Given the description of an element on the screen output the (x, y) to click on. 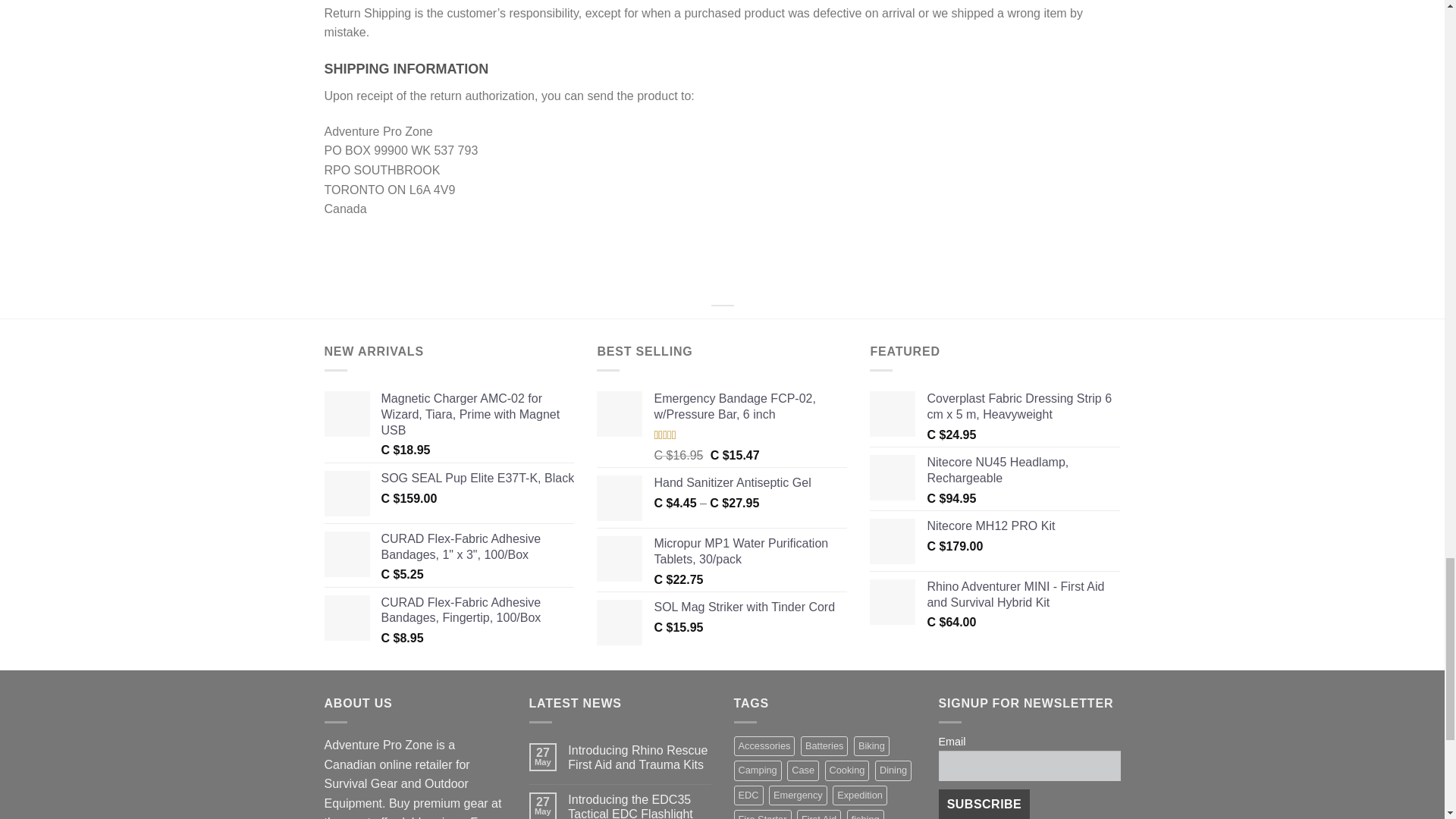
Subscribe (984, 804)
Introducing Rhino Rescue First Aid and Trauma Kits (638, 757)
Introducing the EDC35 Tactical EDC Flashlight (638, 805)
